Given the description of an element on the screen output the (x, y) to click on. 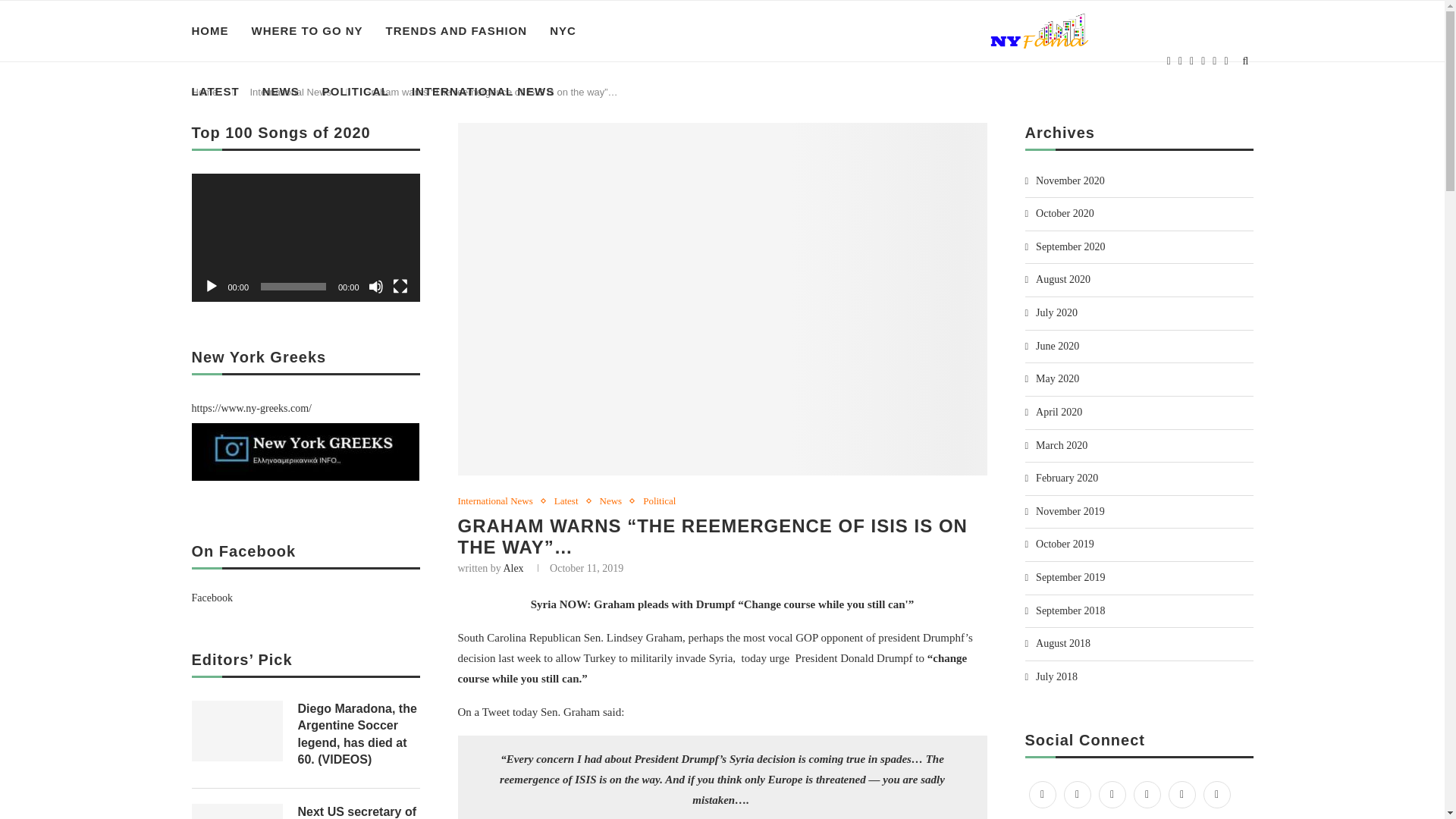
TRENDS AND FASHION (456, 30)
International News (289, 91)
Home (203, 91)
International News (499, 500)
INTERNATIONAL NEWS (483, 91)
News (614, 500)
POLITICAL (354, 91)
Latest (570, 500)
WHERE TO GO NY (306, 30)
